Given the description of an element on the screen output the (x, y) to click on. 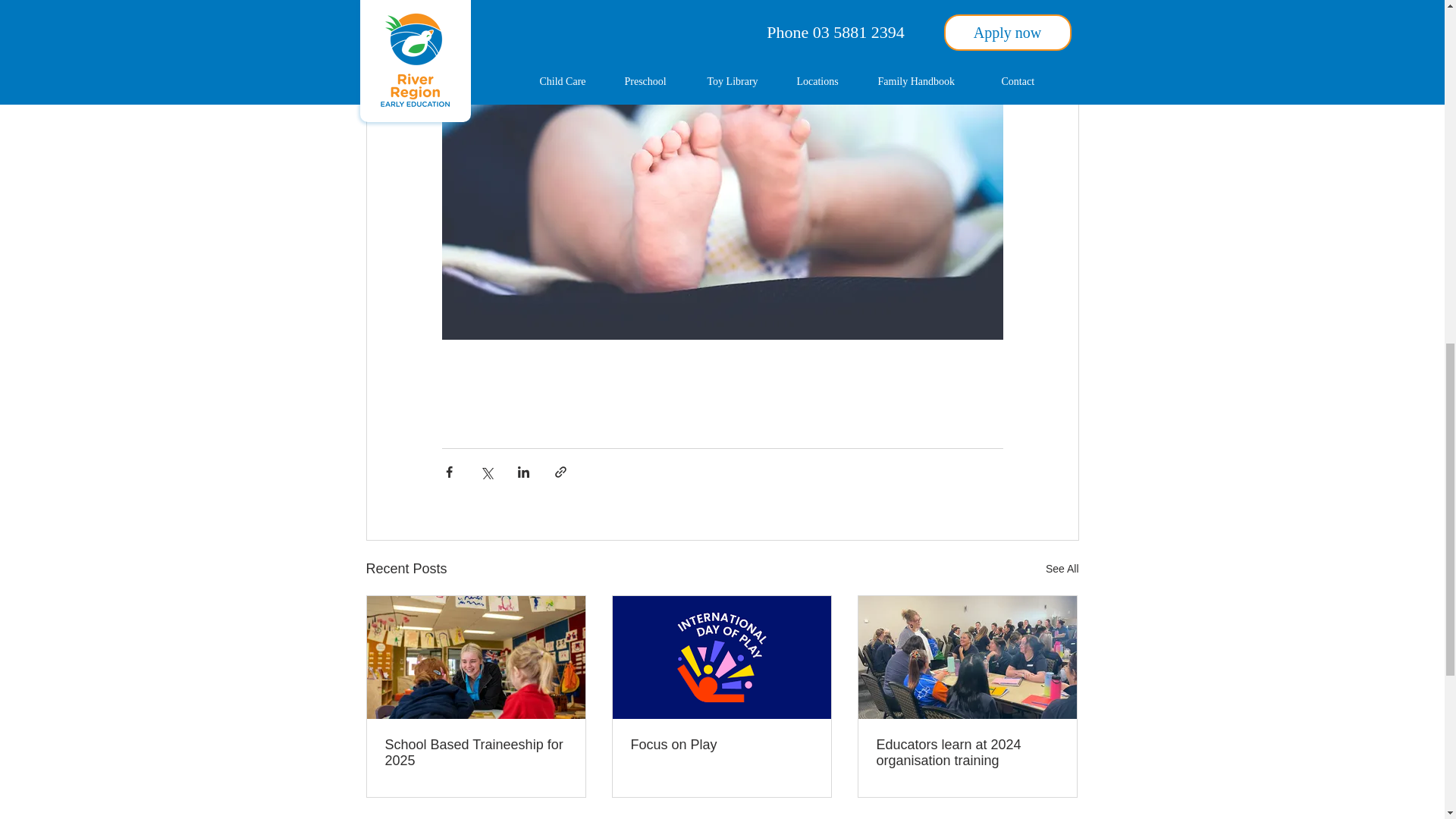
See All (1061, 568)
Educators learn at 2024 organisation training (967, 753)
School Based Traineeship for 2025 (476, 753)
Focus on Play (721, 744)
